Given the description of an element on the screen output the (x, y) to click on. 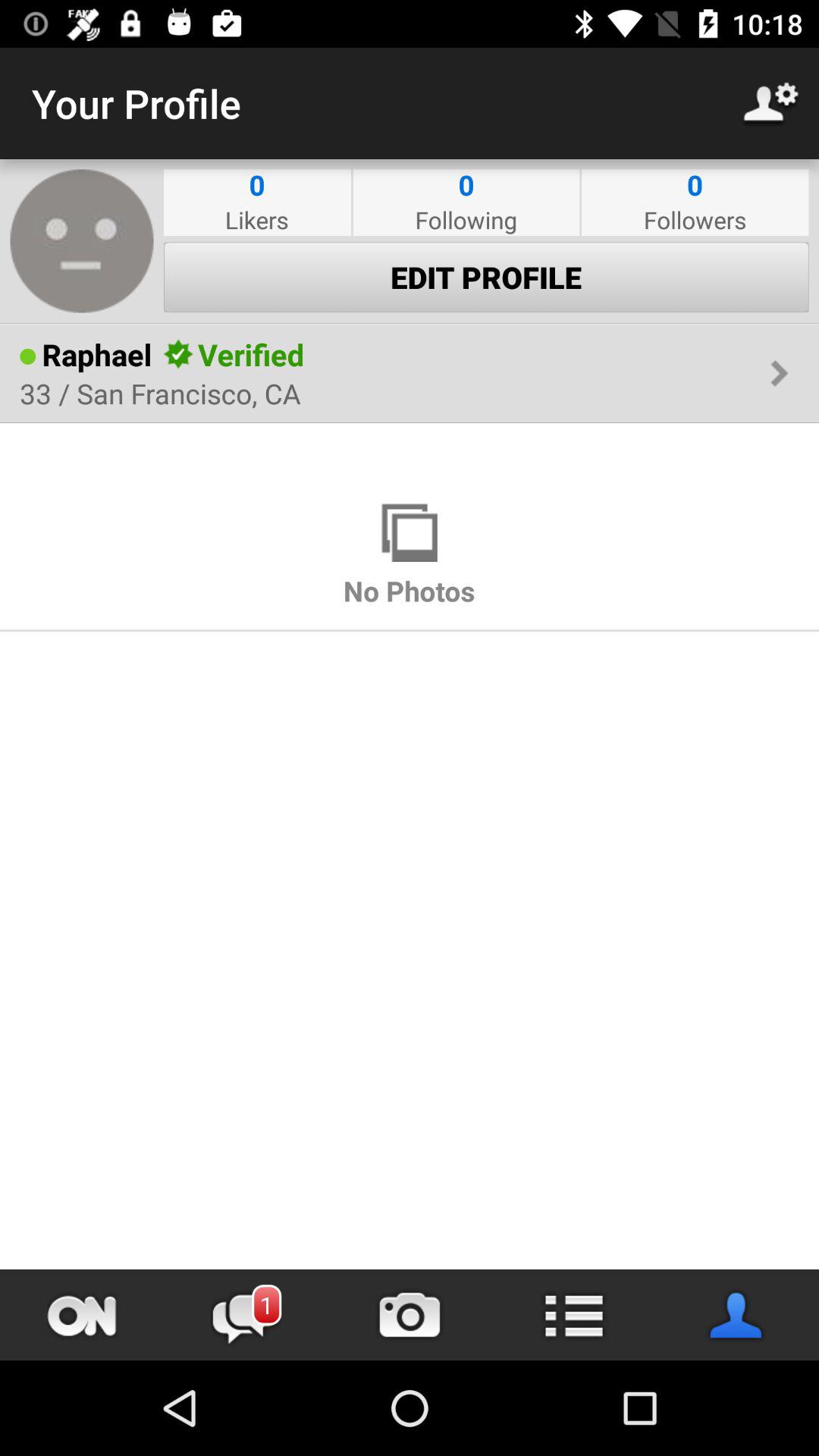
press raphael icon (96, 354)
